Given the description of an element on the screen output the (x, y) to click on. 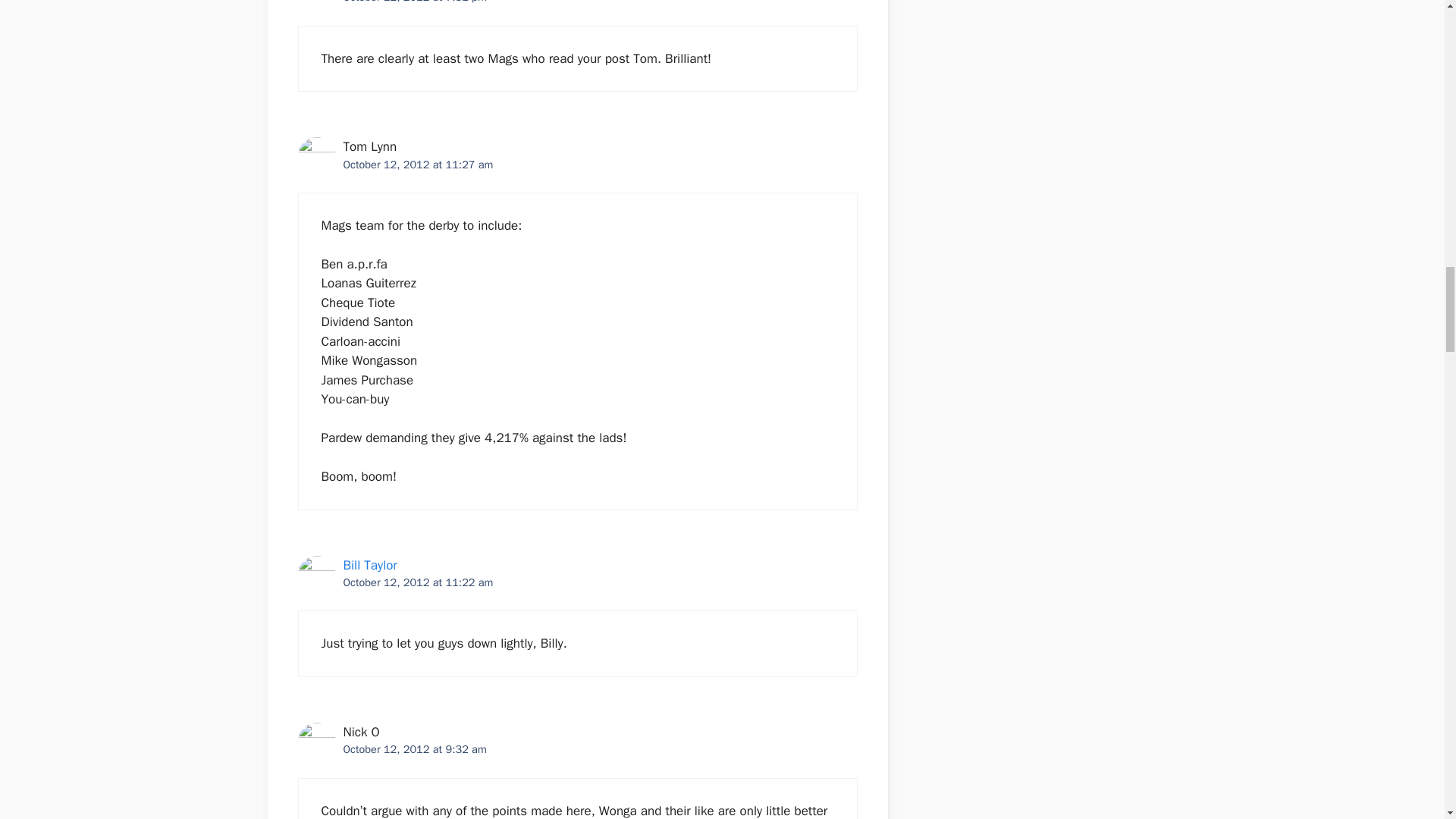
October 12, 2012 at 7:31 pm (414, 2)
Bill Taylor (369, 565)
October 12, 2012 at 11:22 am (417, 581)
October 12, 2012 at 9:32 am (414, 748)
October 12, 2012 at 11:27 am (417, 164)
